Given the description of an element on the screen output the (x, y) to click on. 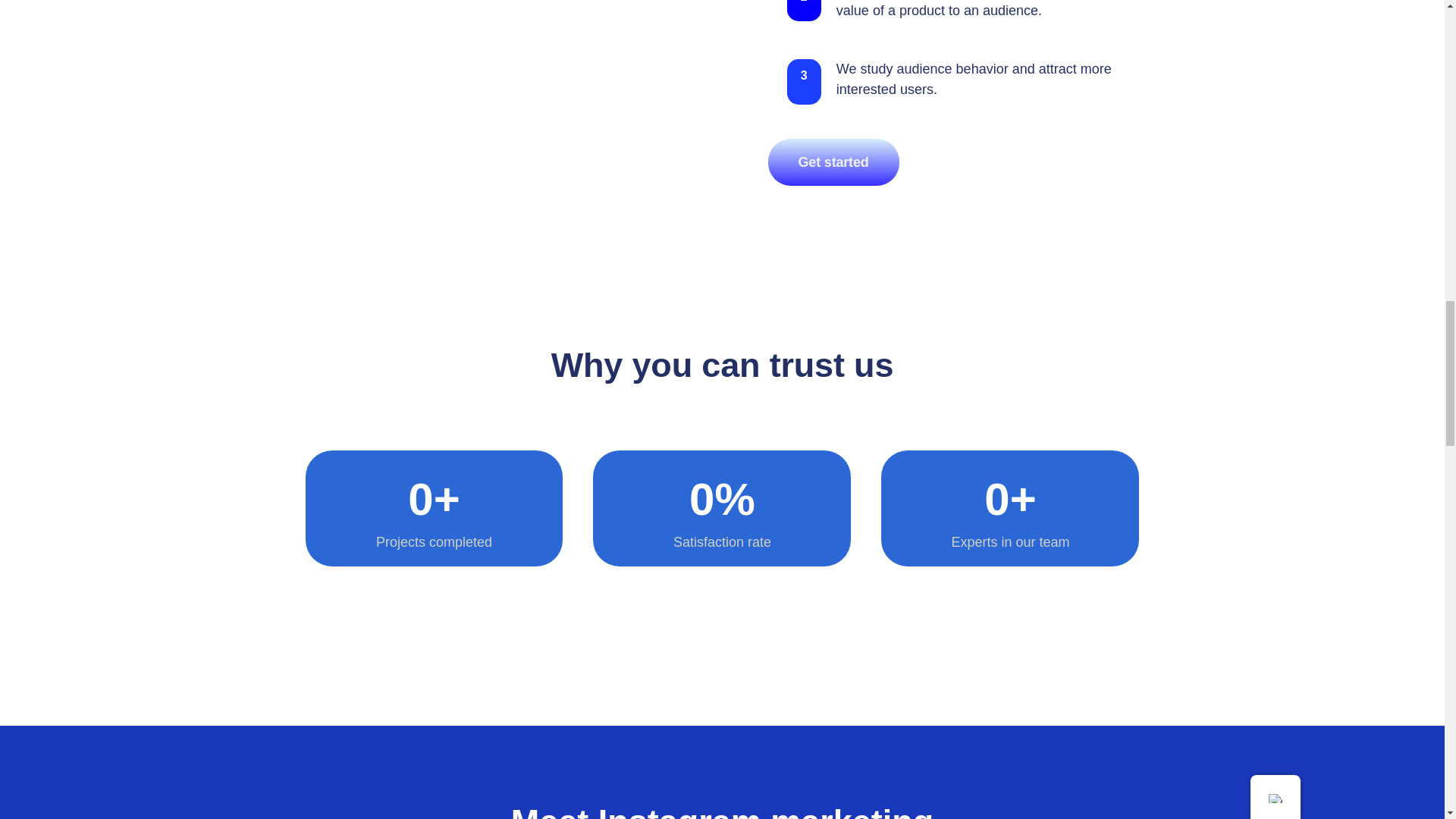
Get started (832, 161)
